Given the description of an element on the screen output the (x, y) to click on. 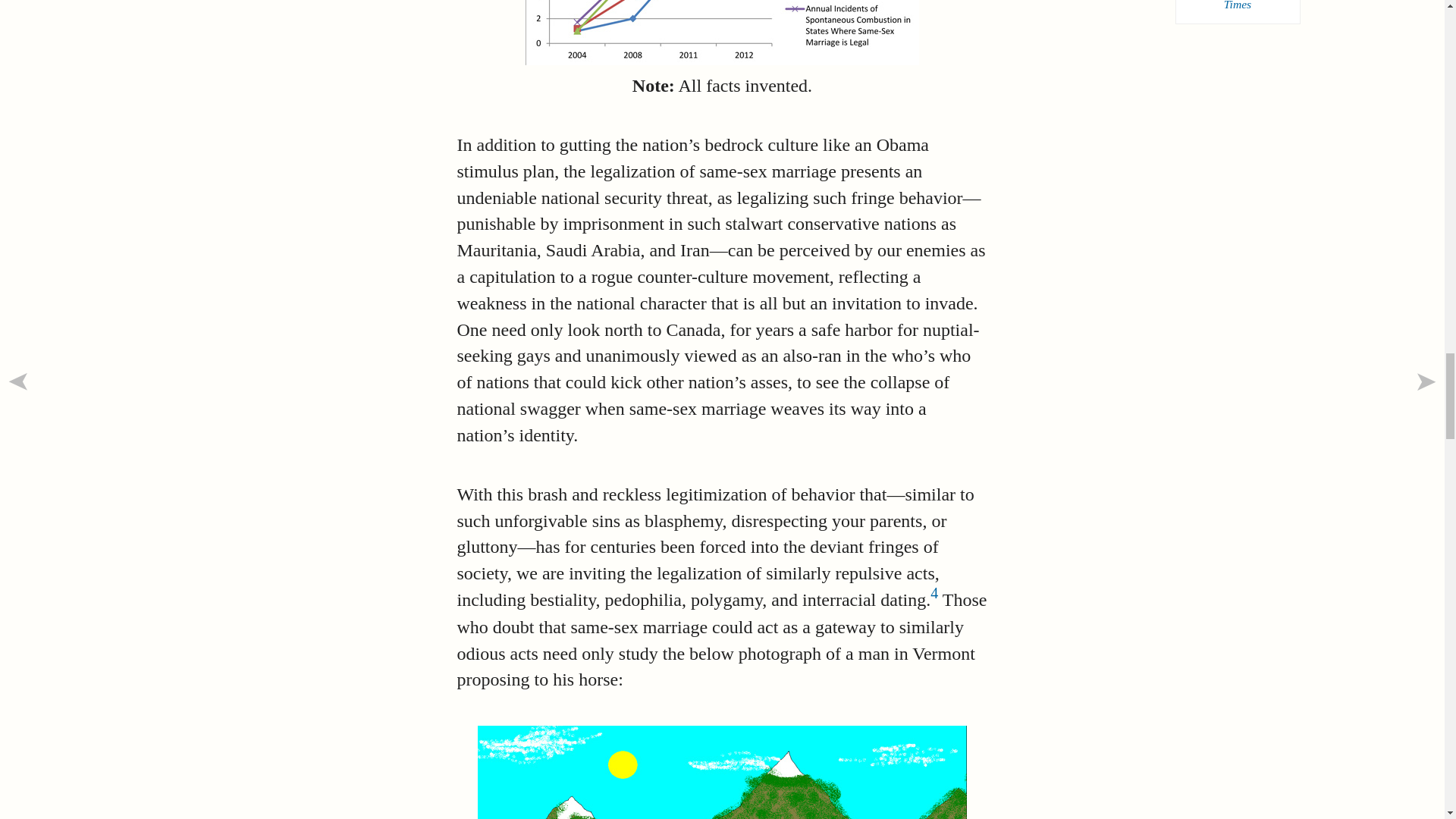
4 (933, 592)
